Given the description of an element on the screen output the (x, y) to click on. 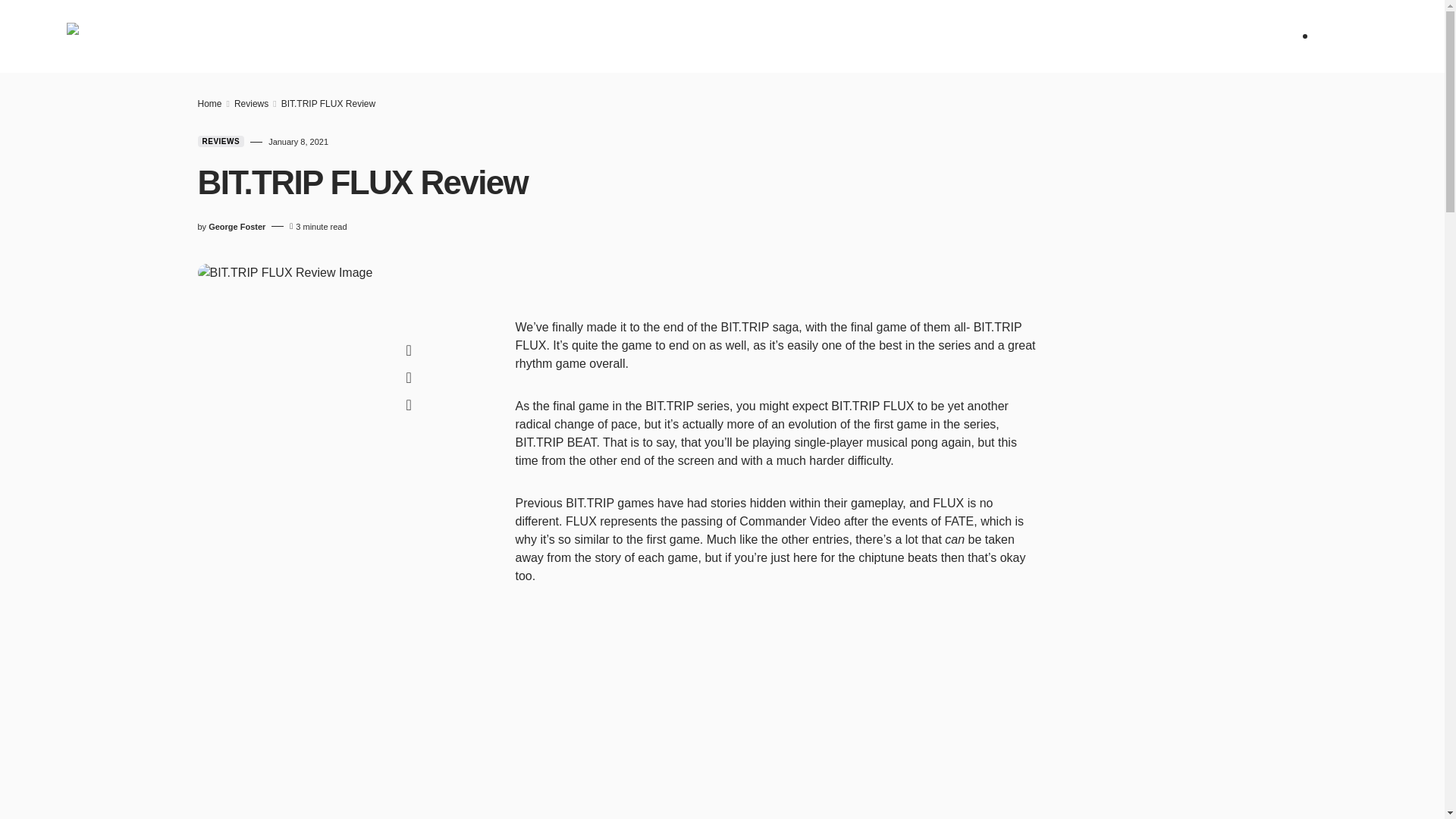
HOME (296, 36)
FEATURES (564, 36)
PREVIEWS (486, 36)
Features (564, 36)
NEWS (349, 36)
REVIEWS (411, 36)
GUIDES (634, 36)
INTERVIEWS (709, 36)
Previews (486, 36)
News (349, 36)
